Given the description of an element on the screen output the (x, y) to click on. 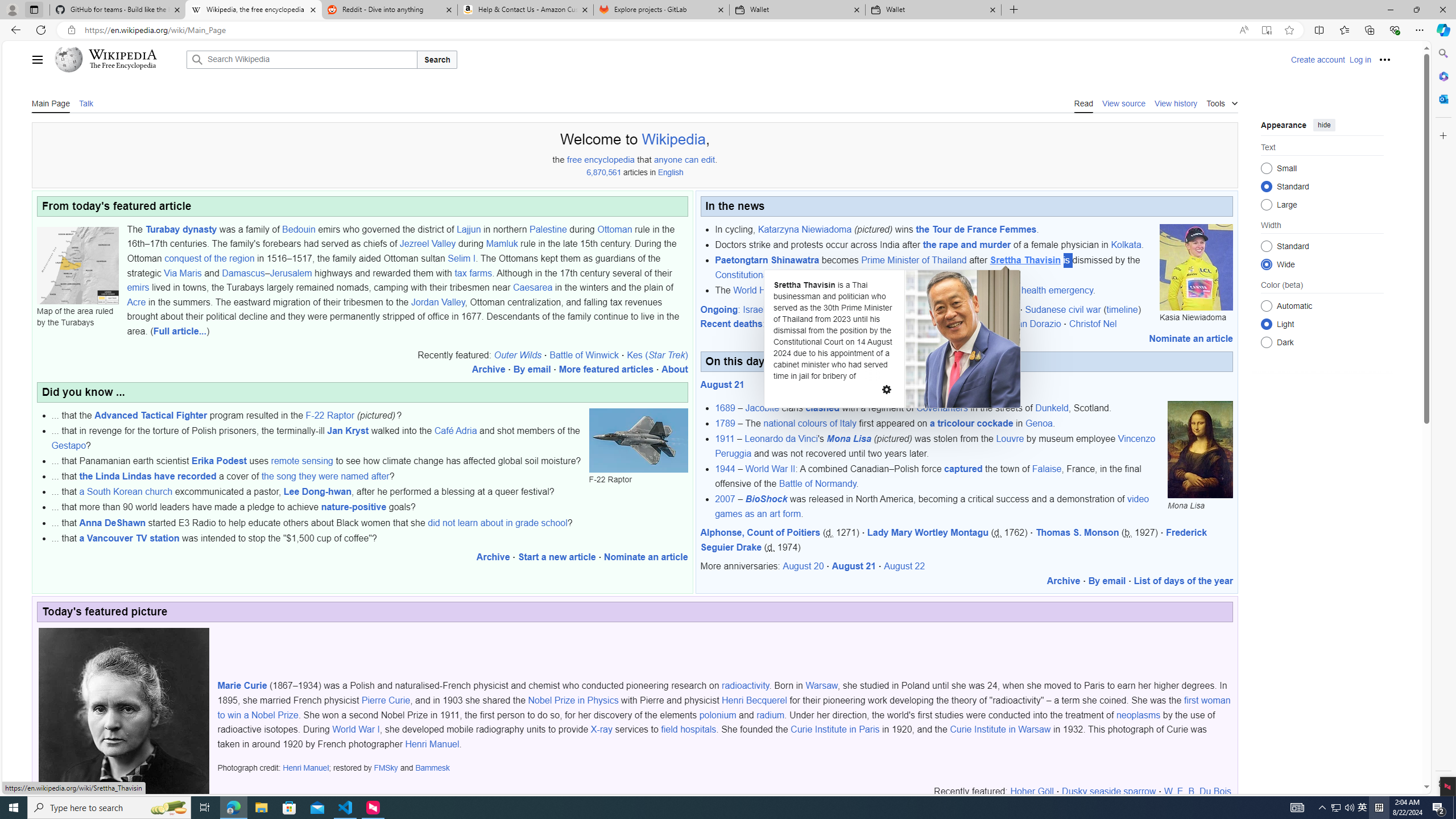
The Free Encyclopedia (121, 65)
August 22 (904, 566)
Thomas S. Monson (1077, 532)
Gestapo (67, 445)
F-22 Raptor (638, 439)
Katarzyna Niewiadoma (804, 229)
the song they were named after (325, 476)
conquest of the region (209, 258)
Main Page (50, 102)
Nominate an article (1190, 338)
